Given the description of an element on the screen output the (x, y) to click on. 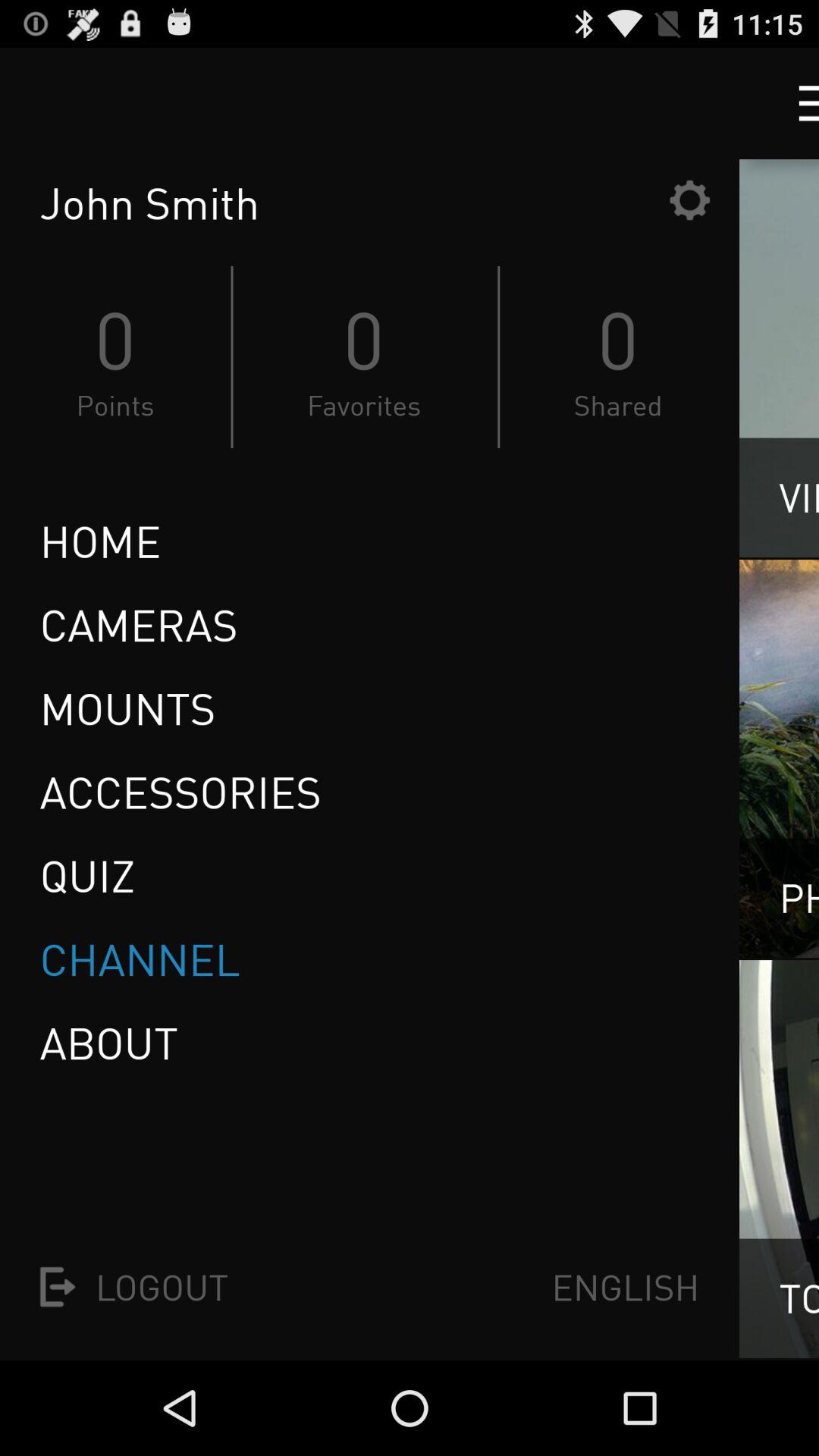
main menu (795, 102)
